Given the description of an element on the screen output the (x, y) to click on. 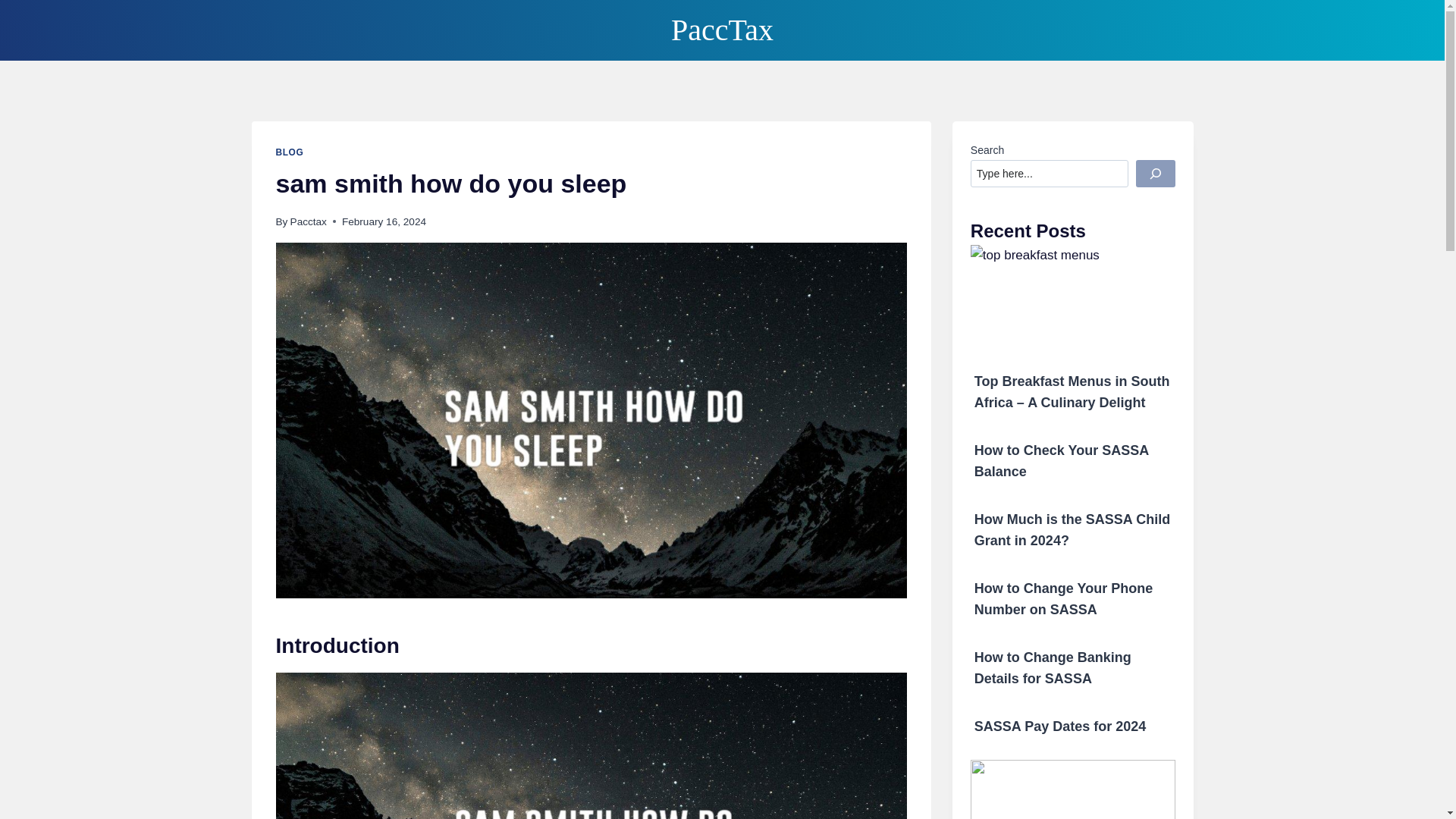
PaccTax (722, 30)
BLOG (290, 152)
Pacctax (307, 221)
